Given the description of an element on the screen output the (x, y) to click on. 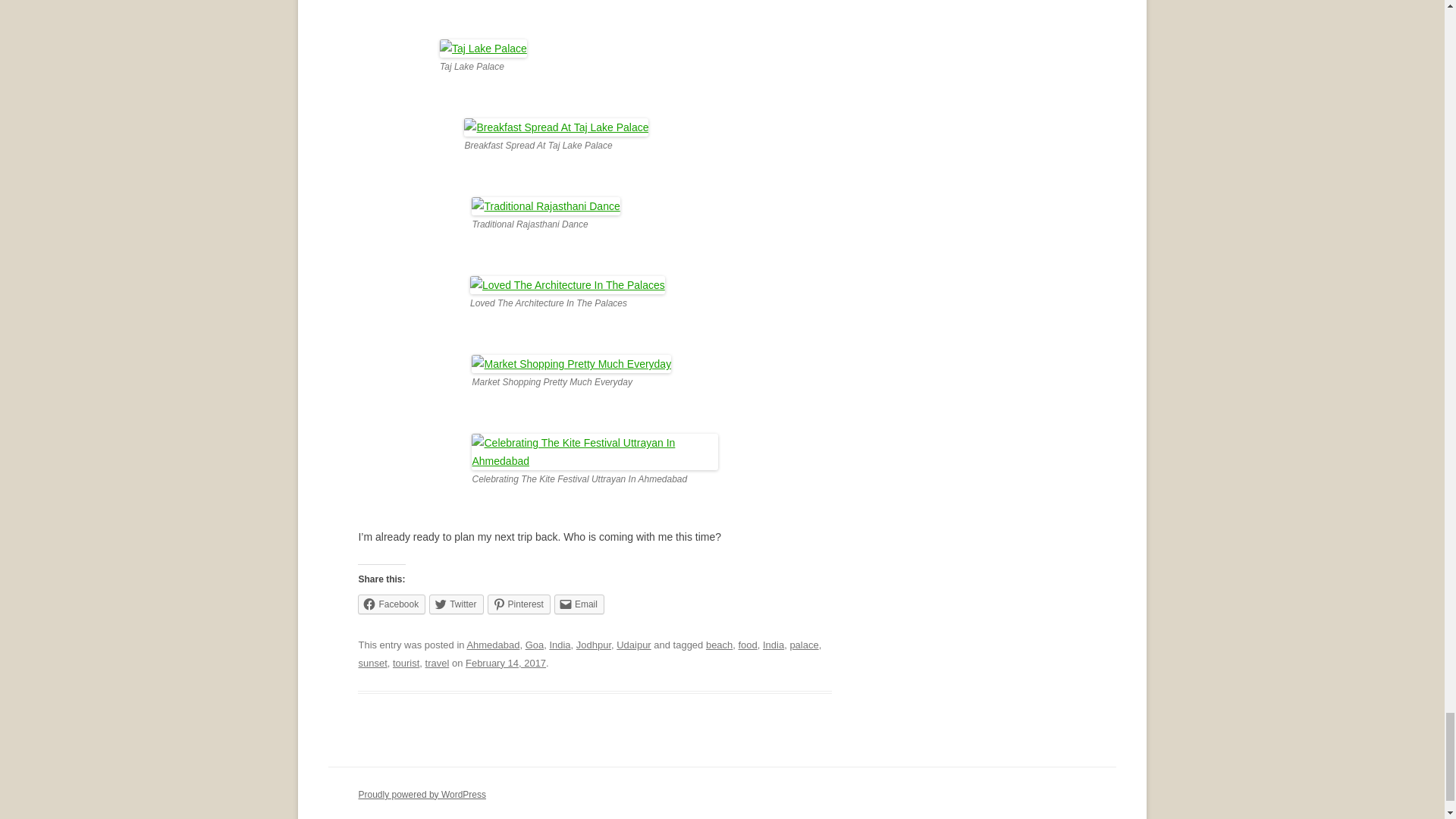
Click to share on Facebook (391, 604)
Click to share on Pinterest (518, 604)
Click to email a link to a friend (579, 604)
Click to share on Twitter (456, 604)
3:59 PM (505, 663)
